Given the description of an element on the screen output the (x, y) to click on. 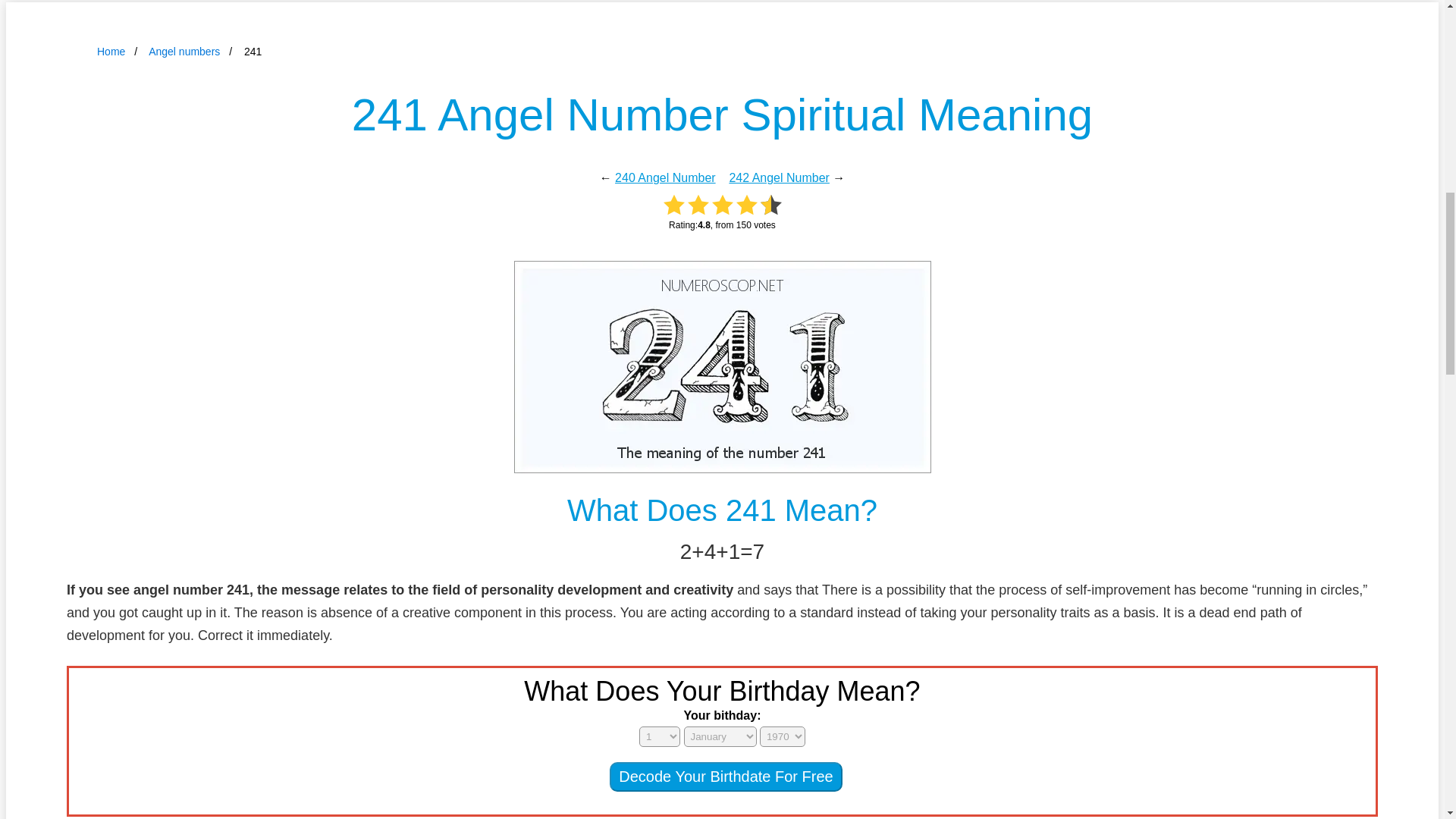
Angel number 241 meaning (722, 367)
4 stars (745, 204)
3 stars (721, 204)
1 star (673, 204)
2 stars (697, 204)
Home (111, 51)
242 Angel Number (779, 177)
Decode Your Birthdate For Free (725, 776)
Angel numbers (183, 51)
5 stars (770, 204)
240 Angel Number (665, 177)
